Given the description of an element on the screen output the (x, y) to click on. 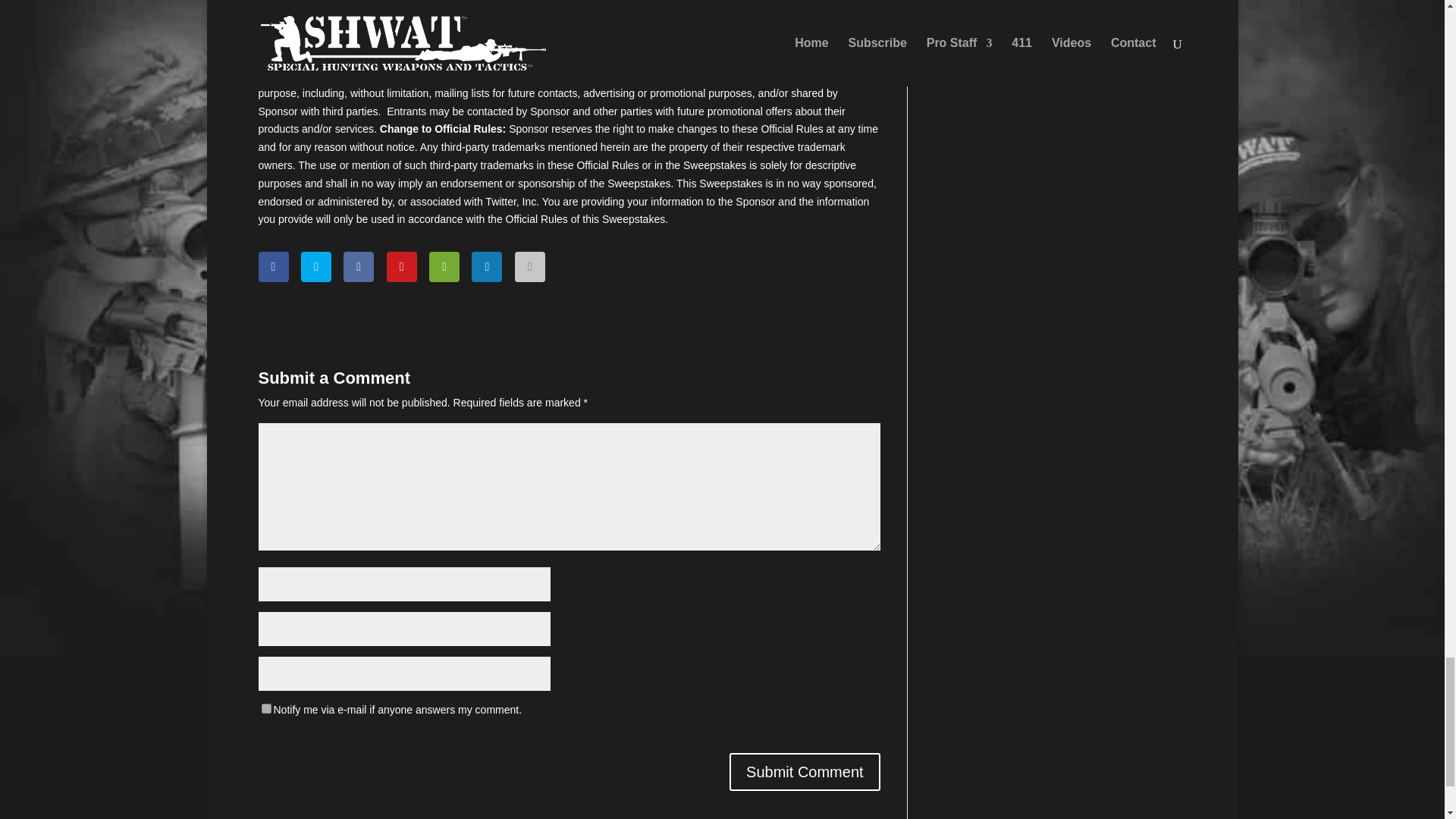
on (265, 708)
Submit Comment (804, 771)
